Given the description of an element on the screen output the (x, y) to click on. 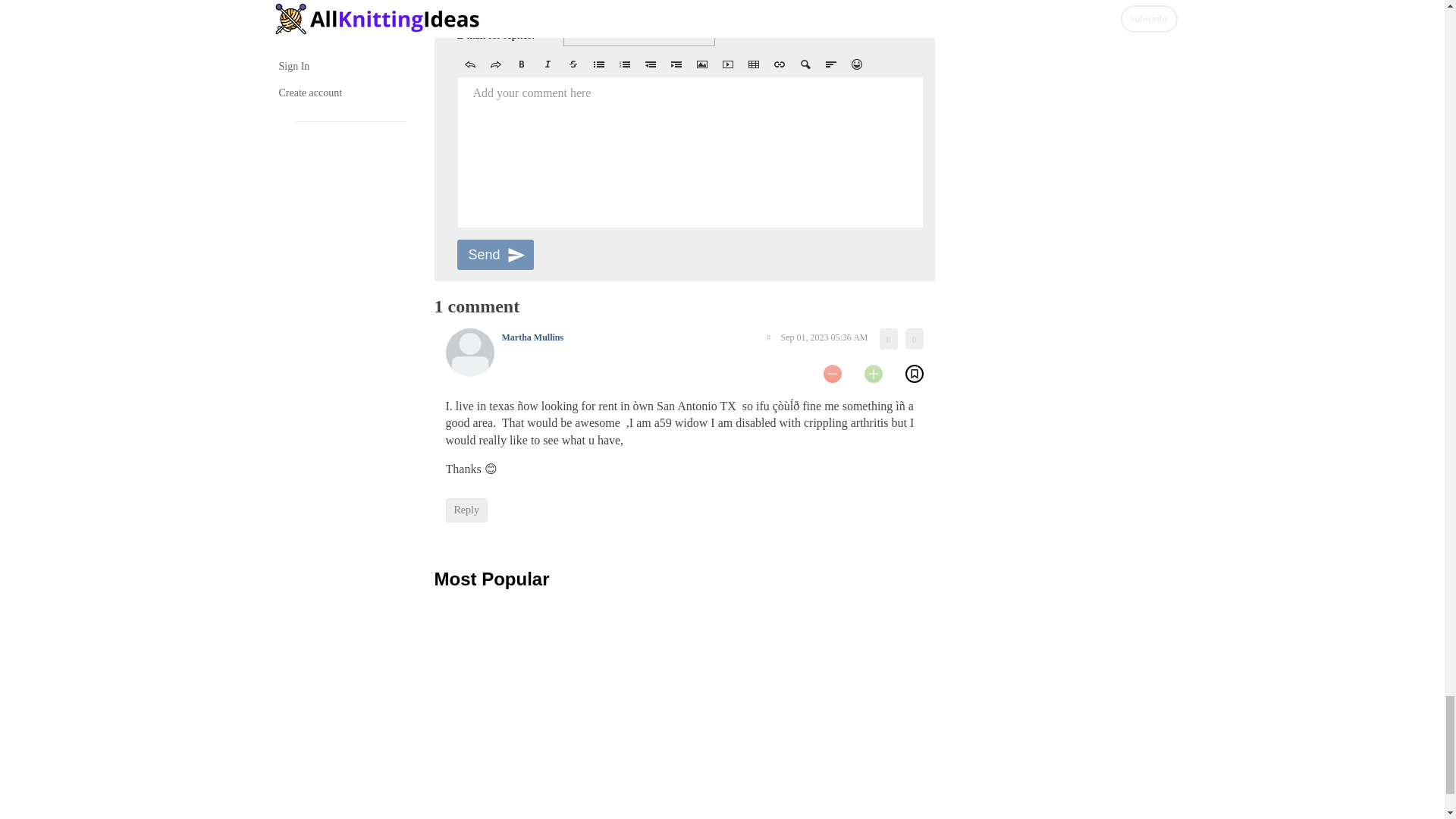
Italic (546, 64)
Bold (521, 64)
Send (494, 254)
1. Ordered List (624, 64)
Redo (494, 64)
Deleted (572, 64)
Undo (469, 64)
